Given the description of an element on the screen output the (x, y) to click on. 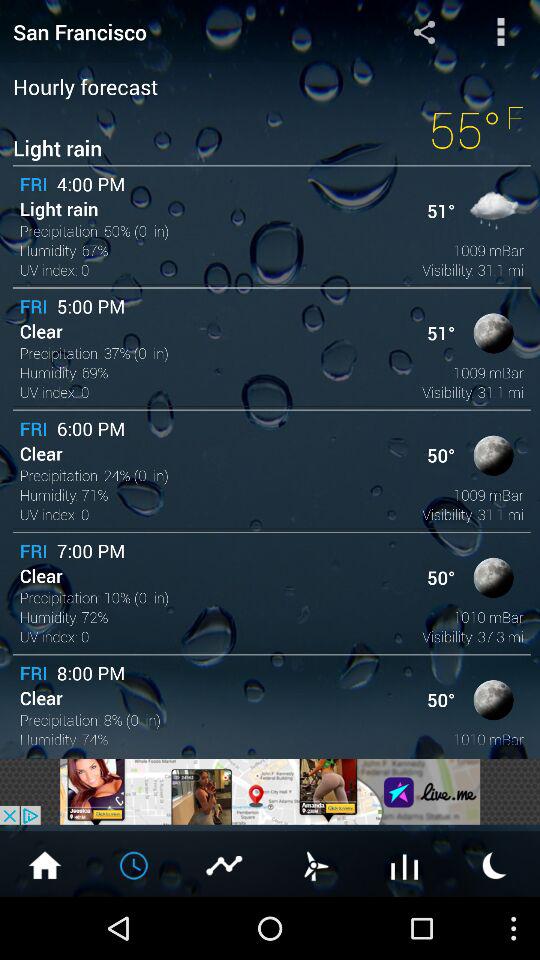
turn off the item to the right of san francisco icon (424, 31)
